Given the description of an element on the screen output the (x, y) to click on. 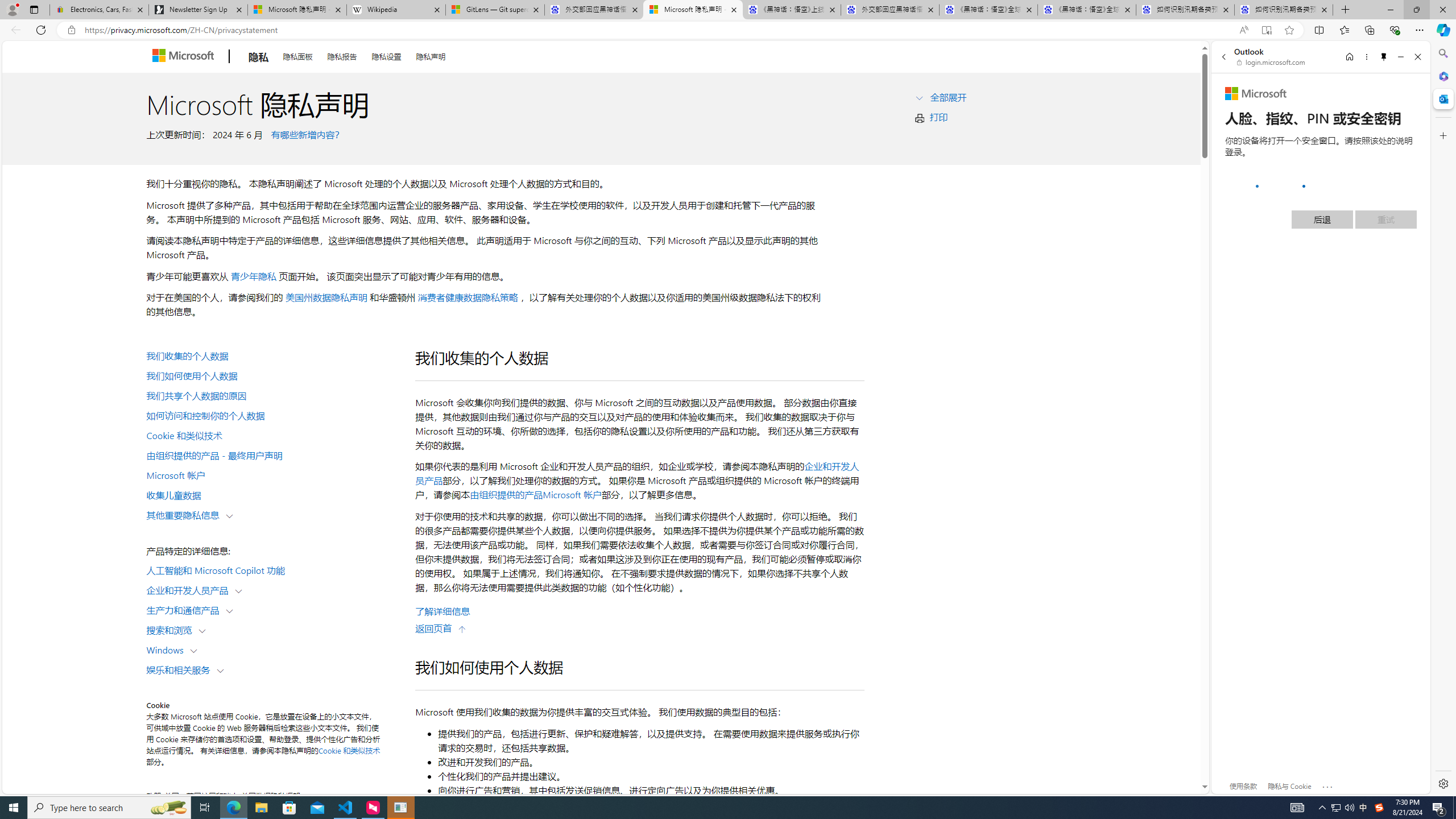
Microsoft (1255, 93)
Electronics, Cars, Fashion, Collectibles & More | eBay (98, 9)
Enter Immersive Reader (F9) (1266, 29)
login.microsoft.com (1271, 61)
